Given the description of an element on the screen output the (x, y) to click on. 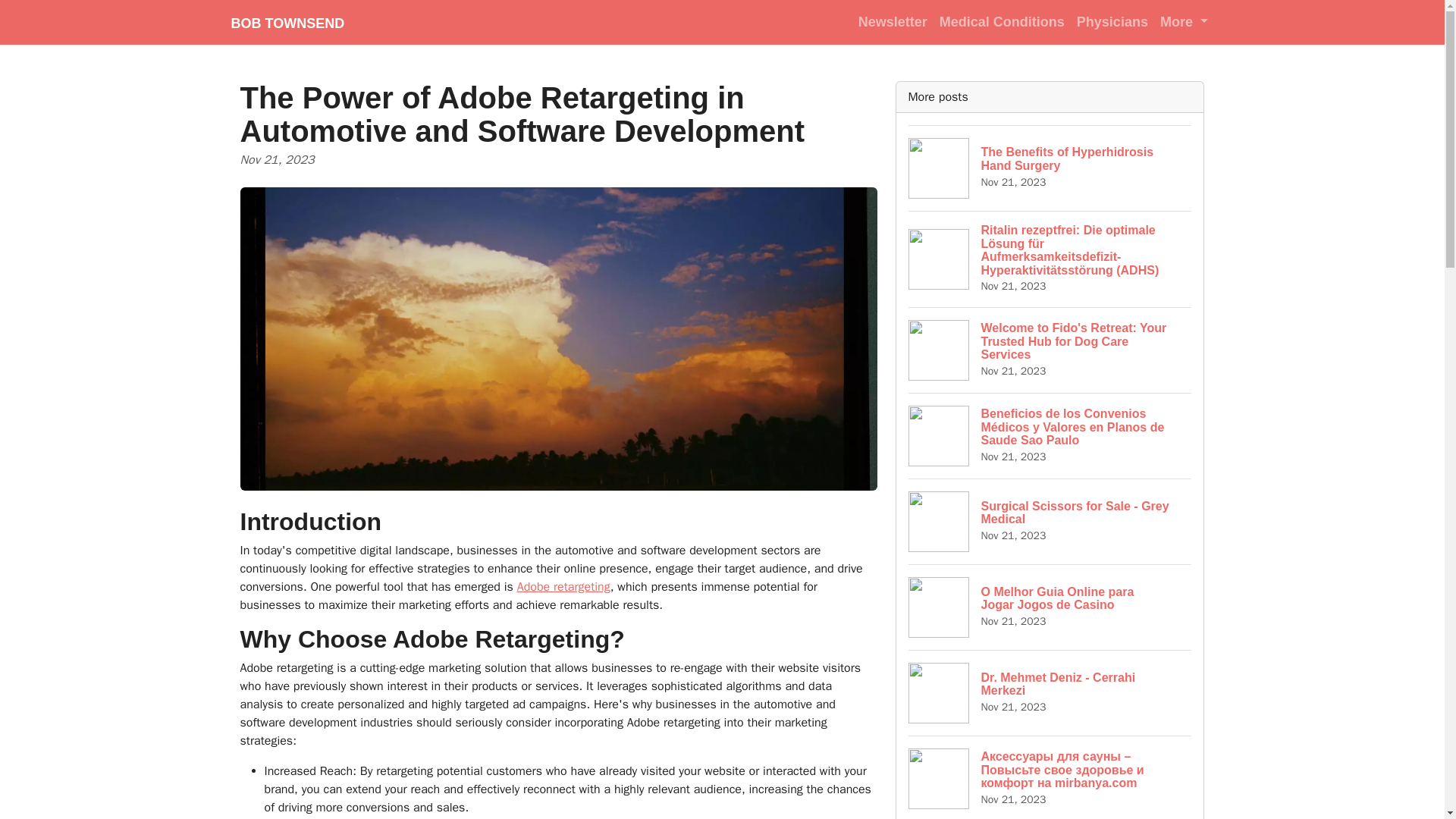
BOB TOWNSEND (286, 22)
Medical Conditions (1001, 21)
More (1050, 167)
Newsletter (1184, 21)
Adobe retargeting (892, 21)
Physicians (1050, 521)
